Given the description of an element on the screen output the (x, y) to click on. 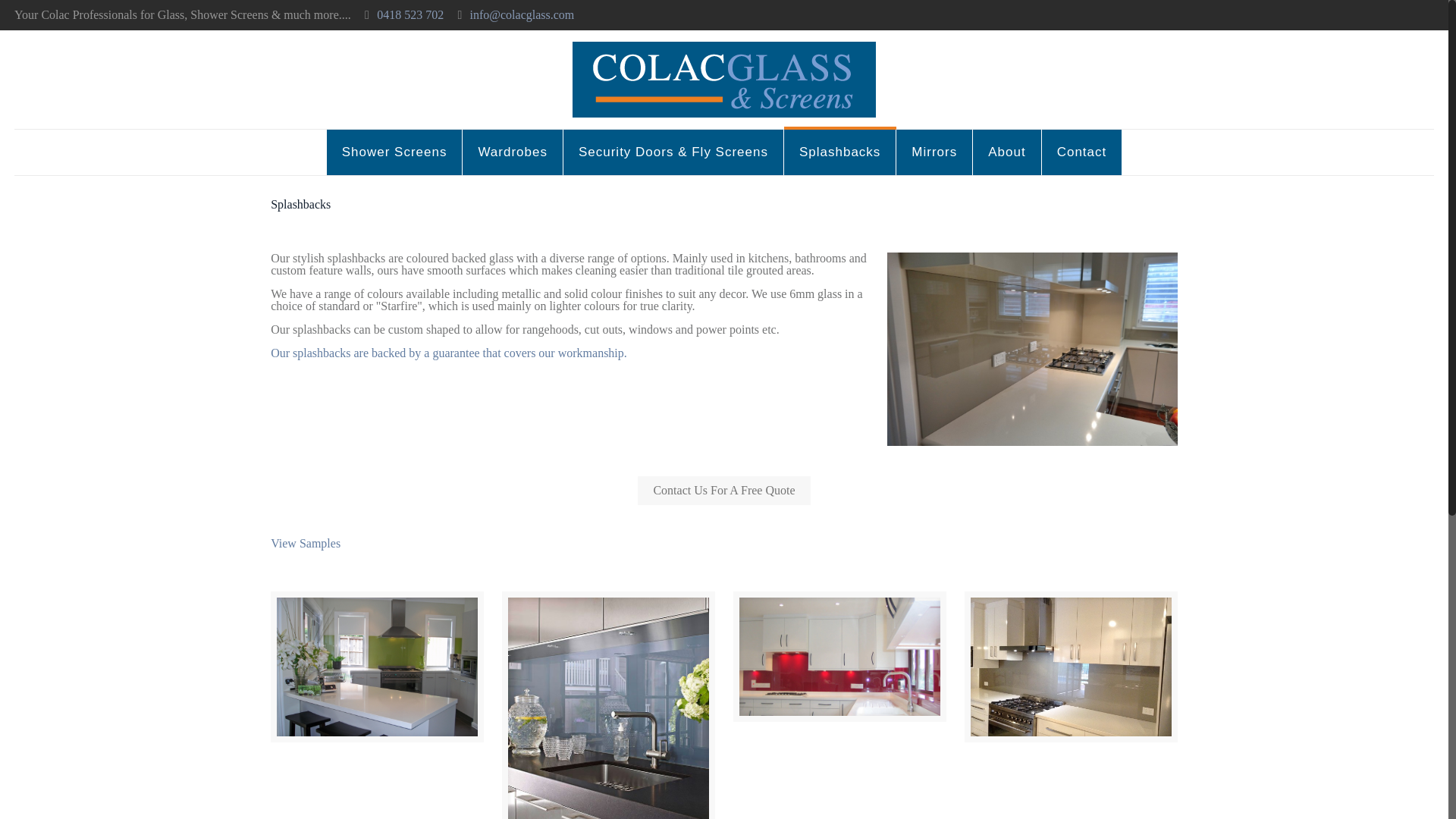
Splashbacks (840, 152)
0418 523 702 (410, 14)
About (1006, 152)
Shower Screens (394, 152)
Mirrors (934, 152)
Contact (1082, 152)
Contact Us For A Free Quote (723, 490)
Wardrobes (513, 152)
